Given the description of an element on the screen output the (x, y) to click on. 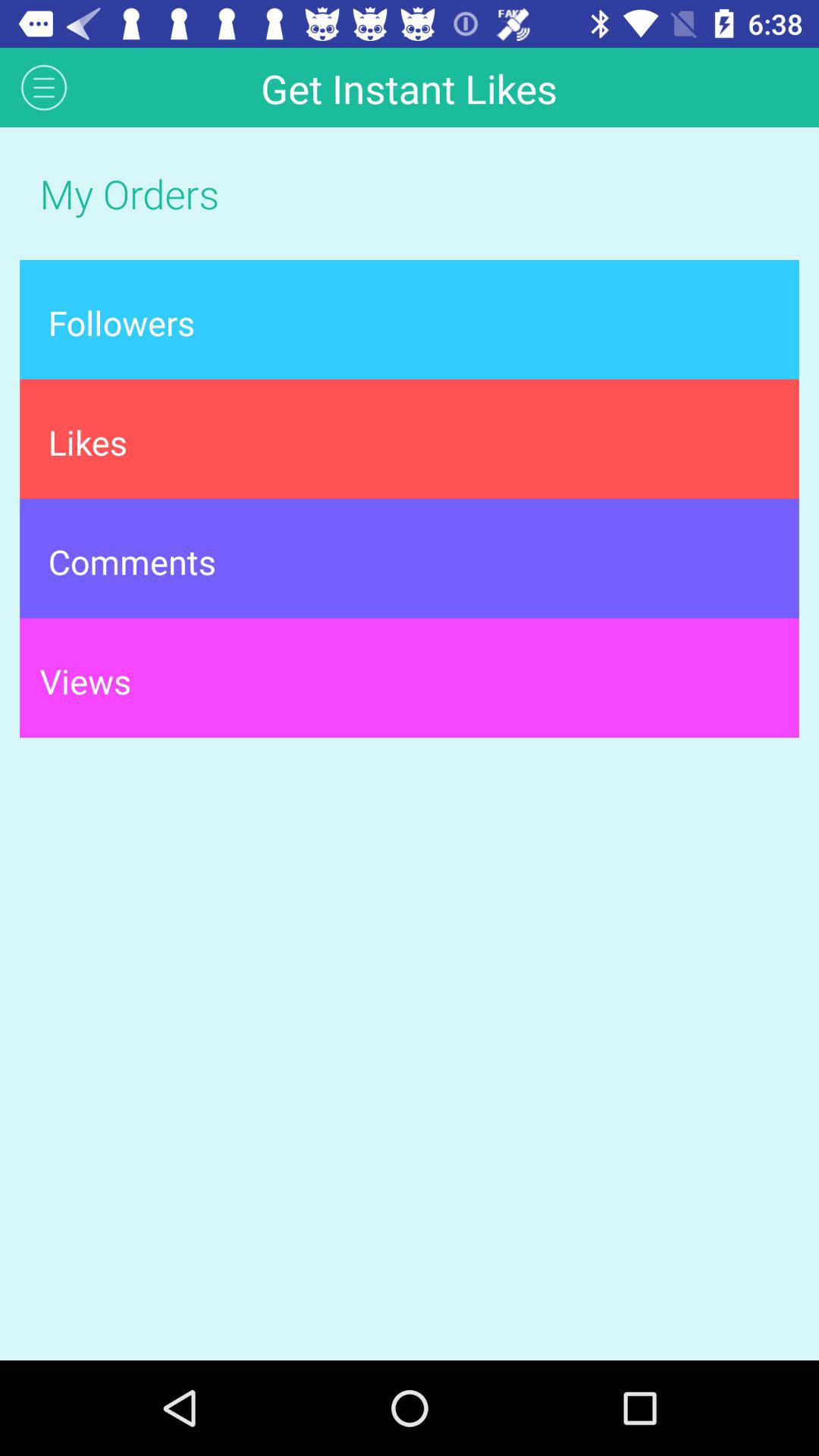
select icon to the left of the get instant likes icon (44, 87)
